Given the description of an element on the screen output the (x, y) to click on. 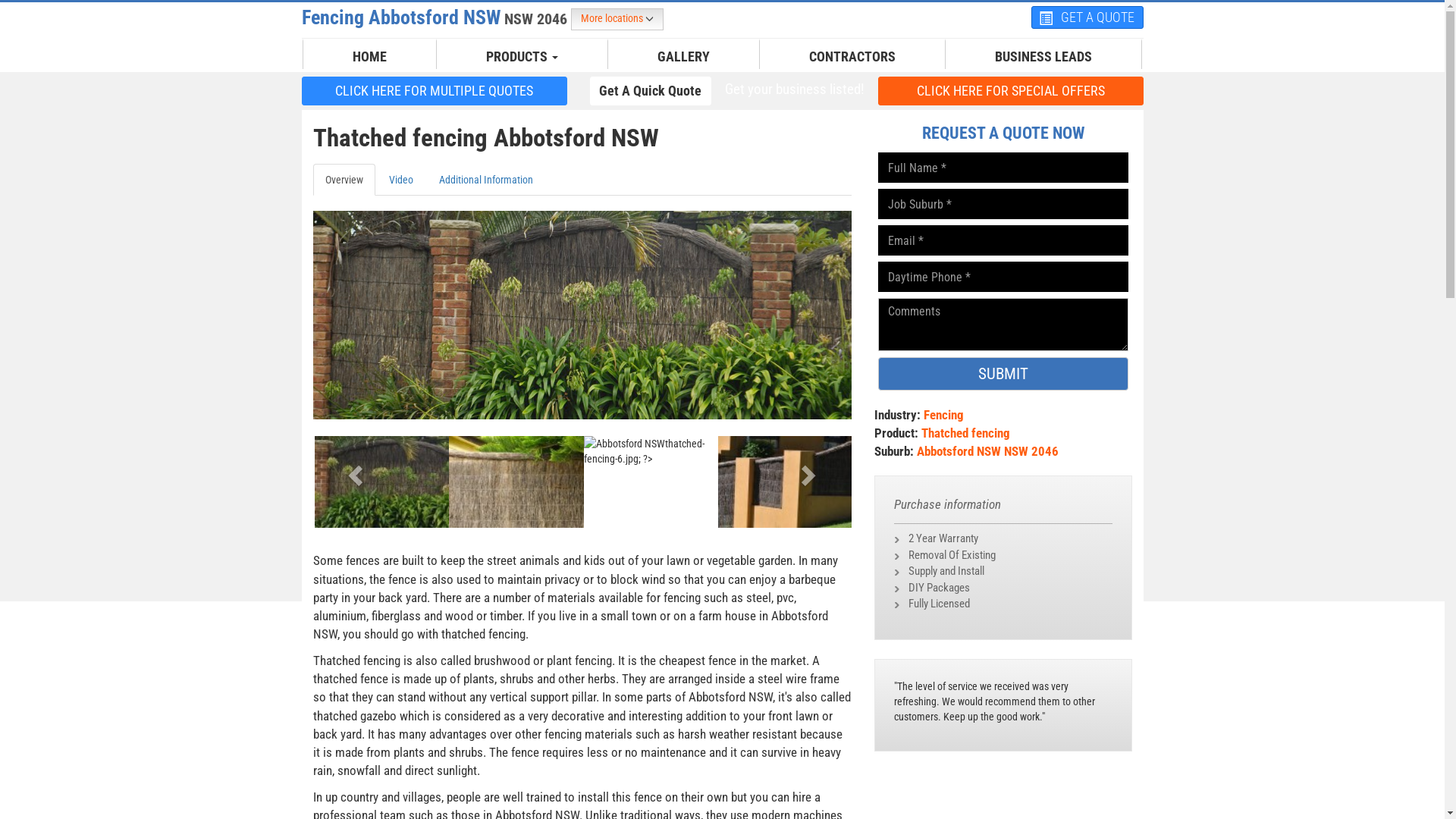
GET A QUOTE Element type: text (1087, 17)
SUBMIT Element type: text (1003, 373)
CLICK HERE FOR SPECIAL OFFERS Element type: text (1010, 90)
Additional Information Element type: text (485, 179)
prev Element type: hover (352, 470)
Get A Quick Quote Element type: text (650, 90)
Get your business listed! Element type: text (793, 89)
GALLERY Element type: text (683, 56)
Video Element type: text (400, 179)
CLICK HERE FOR MULTIPLE QUOTES Element type: text (434, 90)
CLICK HERE FOR SPECIAL OFFERS Element type: text (1010, 90)
CONTRACTORS Element type: text (851, 56)
Get A Quick Quote Element type: text (650, 90)
BUSINESS LEADS Element type: text (1042, 56)
More locations Element type: text (616, 19)
Fencing Abbotsford NSW NSW 2046 Element type: text (436, 17)
Overview Element type: text (343, 179)
CLICK HERE FOR MULTIPLE QUOTES Element type: text (434, 90)
HOME Element type: text (369, 56)
PRODUCTS Element type: text (521, 56)
